Given the description of an element on the screen output the (x, y) to click on. 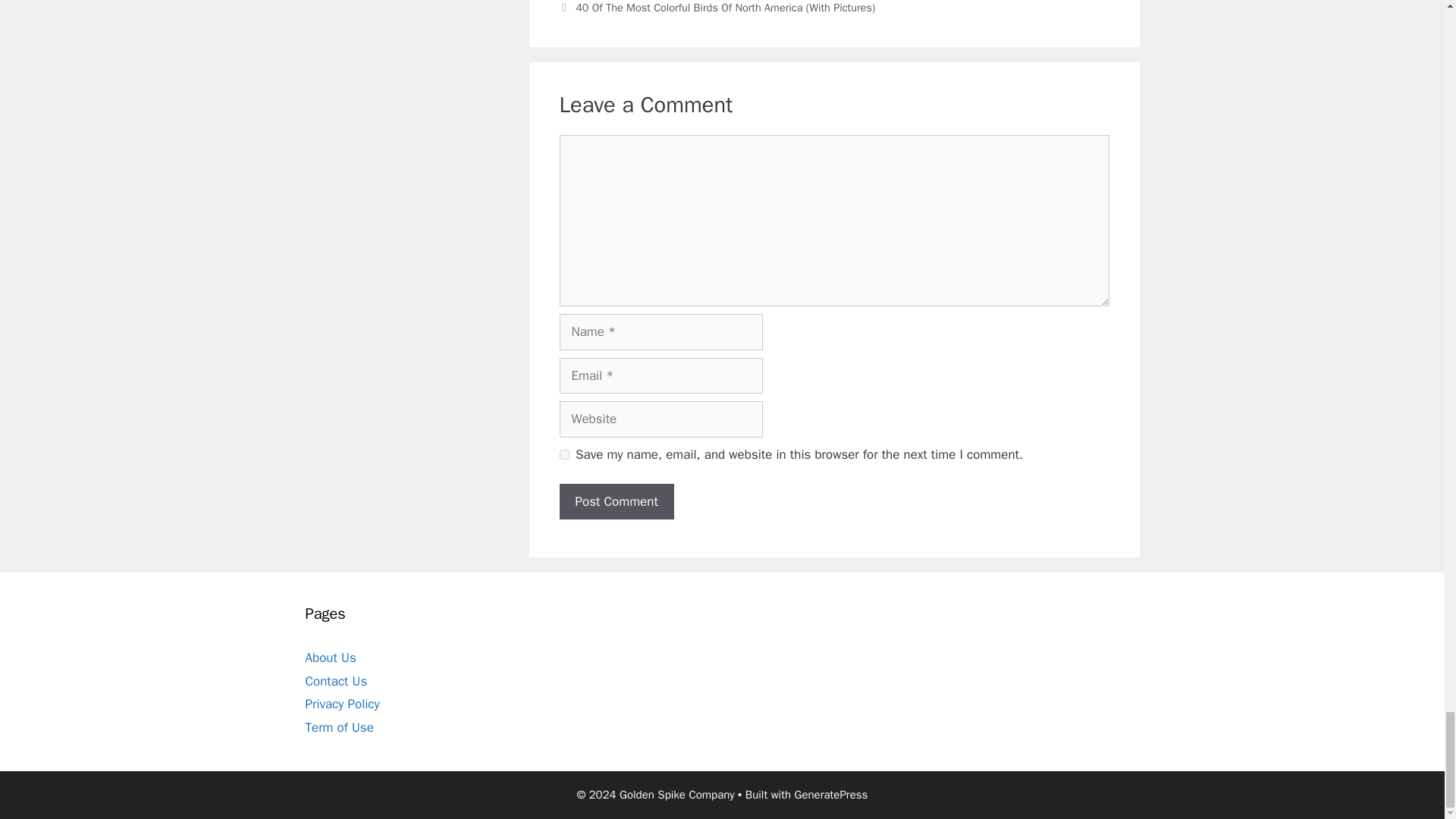
Post Comment (616, 502)
yes (564, 454)
Post Comment (616, 502)
